Given the description of an element on the screen output the (x, y) to click on. 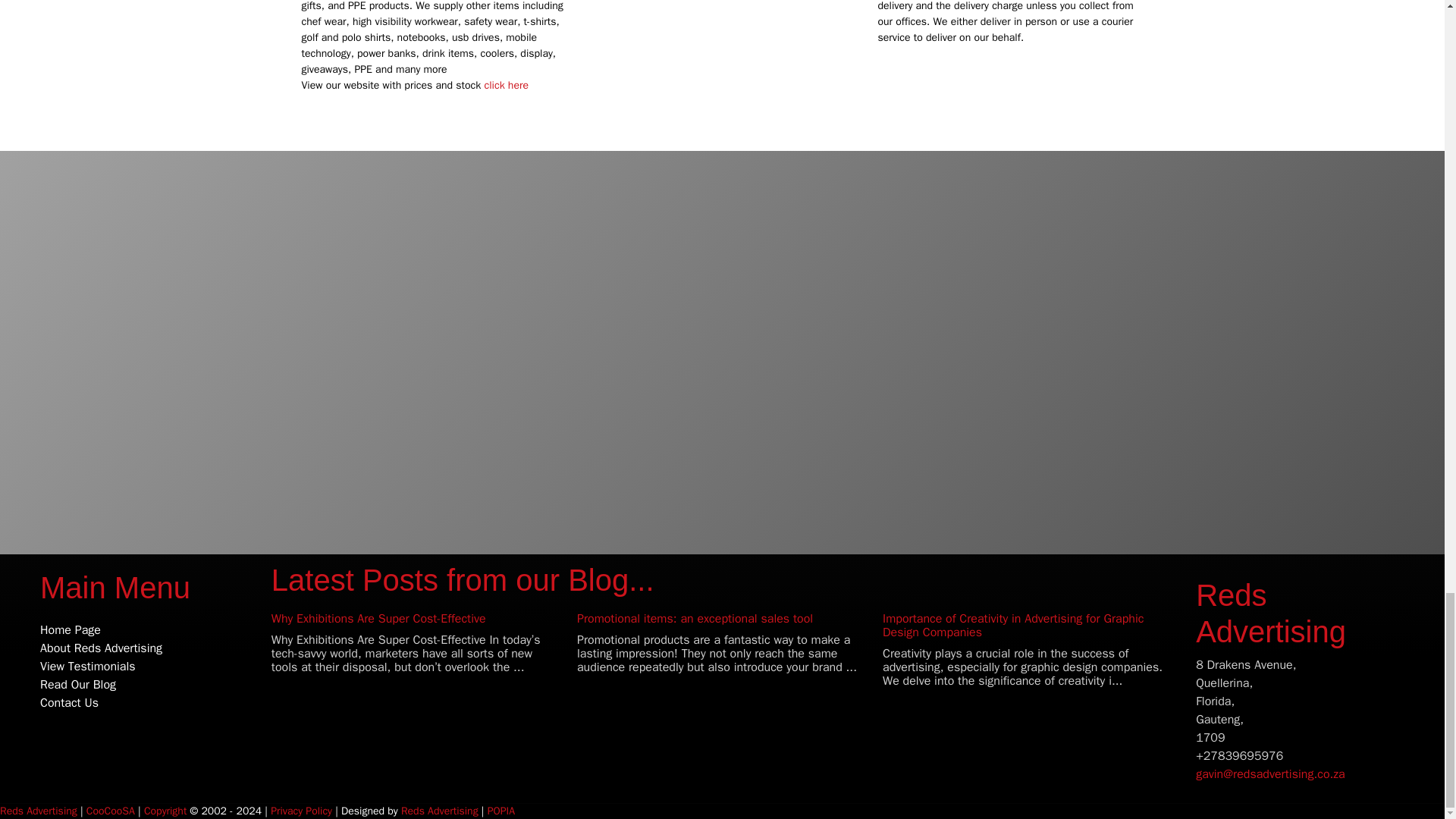
Reds Advertising (38, 810)
Terms and Conditions (165, 810)
Promotional items: an exceptional sales tool (694, 618)
Reds Advertising (1270, 613)
Privacy Policy (300, 810)
Why Exhibitions Are Super Cost-Effective (378, 618)
Website Built with CooCoo Smart Site (110, 810)
